Given the description of an element on the screen output the (x, y) to click on. 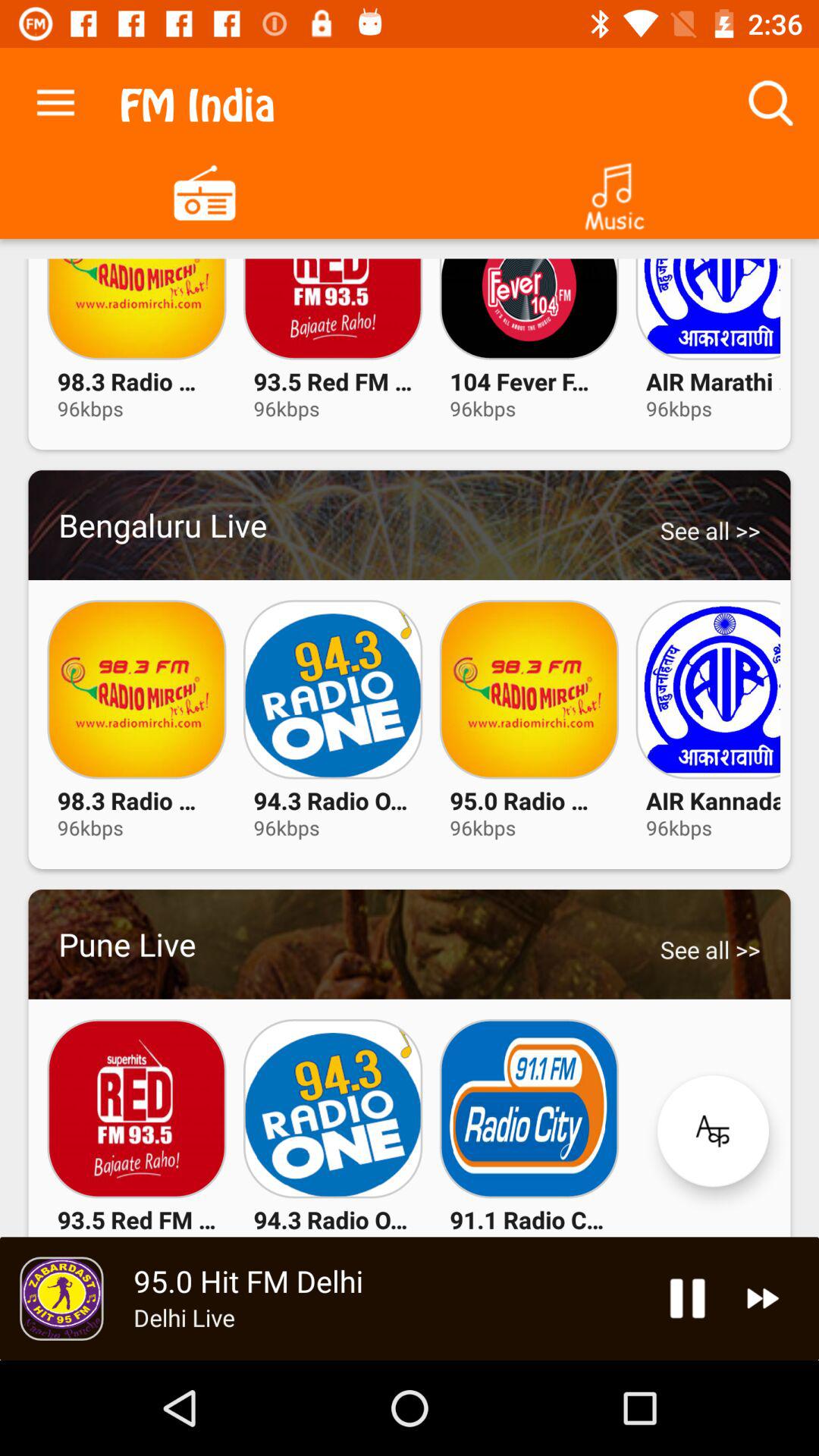
change app language (712, 1130)
